Given the description of an element on the screen output the (x, y) to click on. 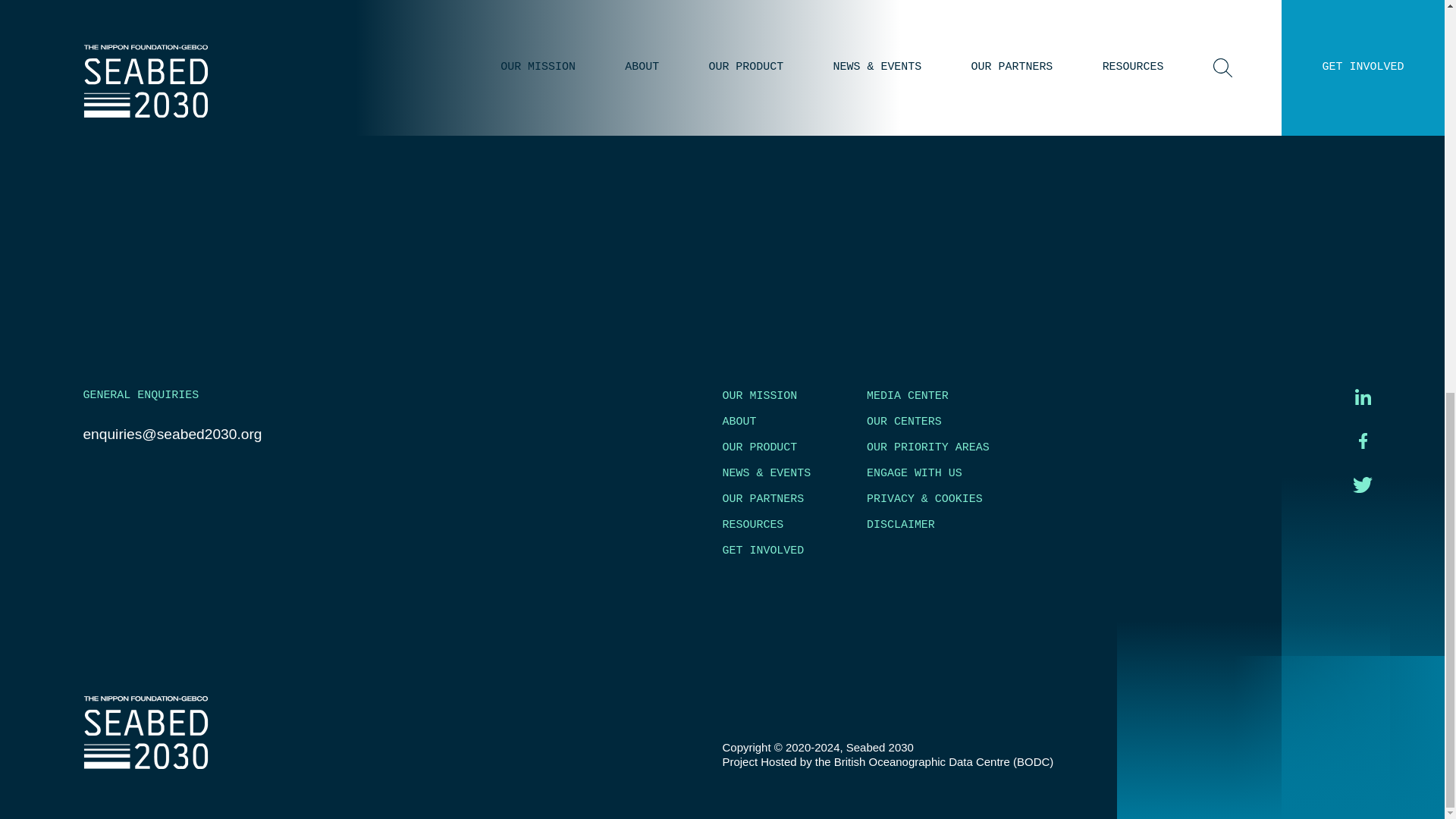
ABOUT (738, 421)
OUR PRODUCT (759, 447)
MEDIA CENTER (907, 395)
OUR CENTERS (904, 421)
OUR MISSION (759, 395)
OUR PARTNERS (762, 499)
DISCLAIMER (900, 524)
OUR PRIORITY AREAS (928, 447)
ENGAGE WITH US (914, 472)
RESOURCES (752, 524)
GET INVOLVED (762, 550)
